Given the description of an element on the screen output the (x, y) to click on. 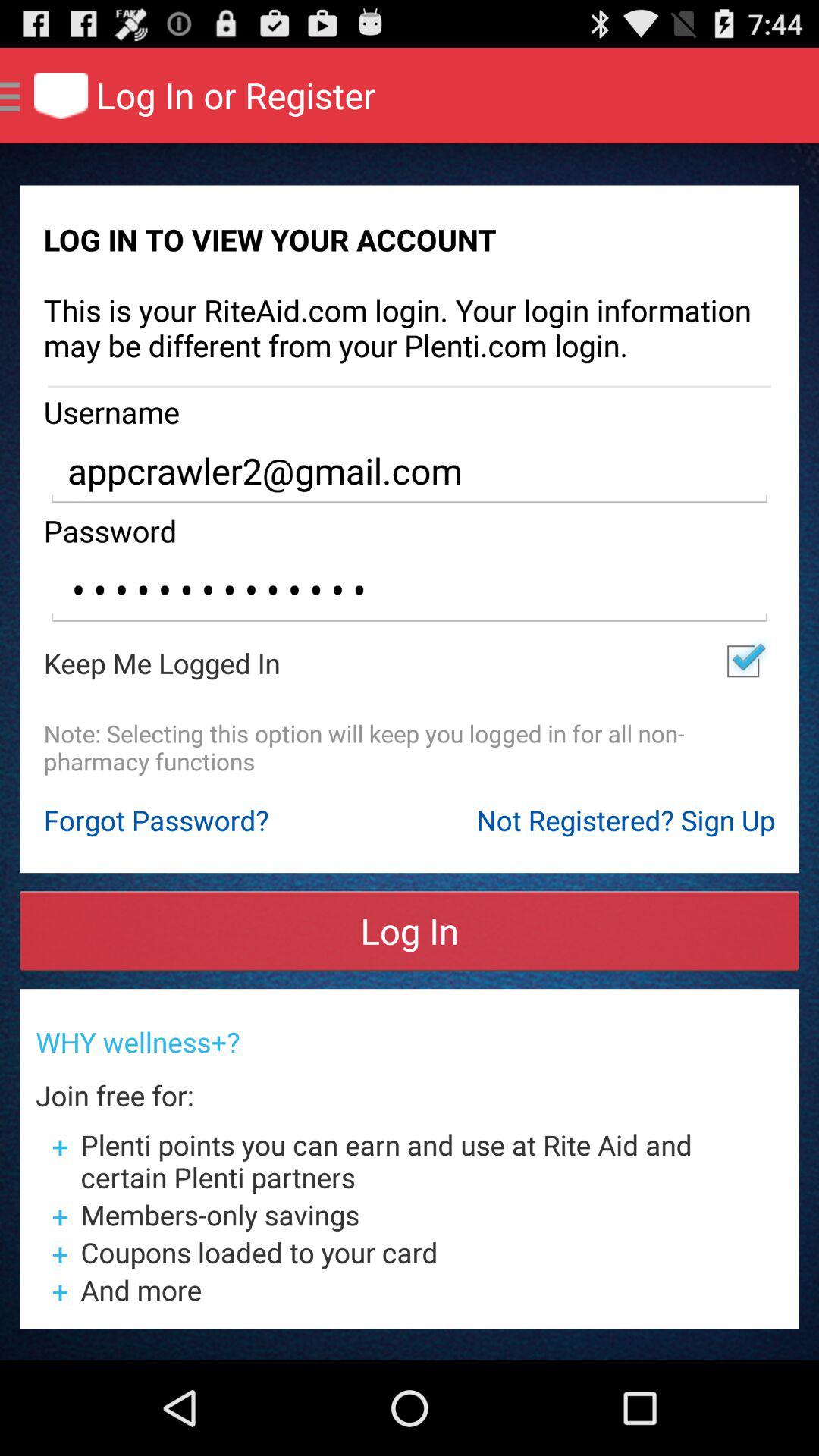
tap the icon above log in icon (259, 819)
